Given the description of an element on the screen output the (x, y) to click on. 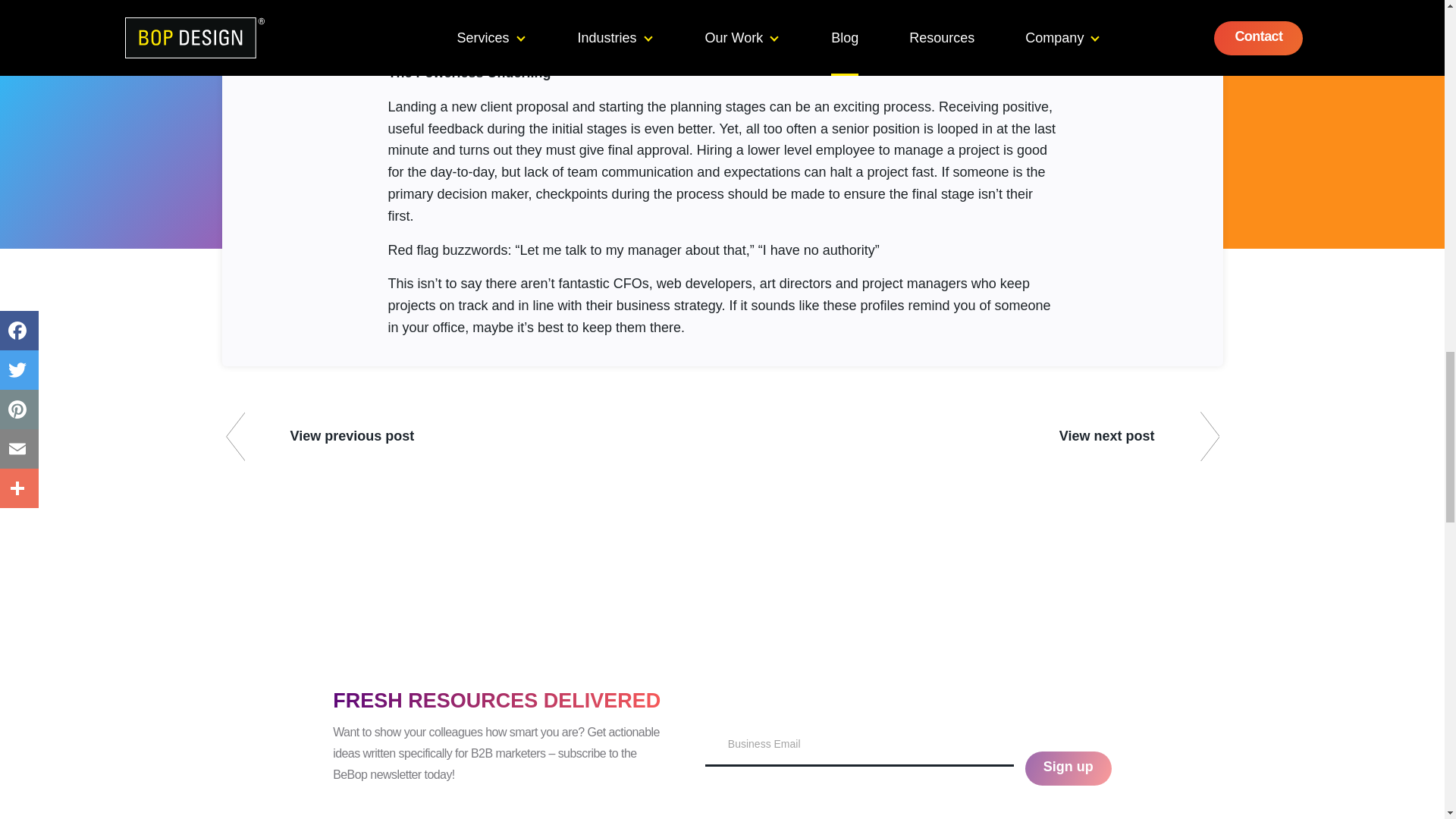
New Bop Resource: Web Developer Terminology Defined (1139, 438)
Sign up (1068, 768)
